Given the description of an element on the screen output the (x, y) to click on. 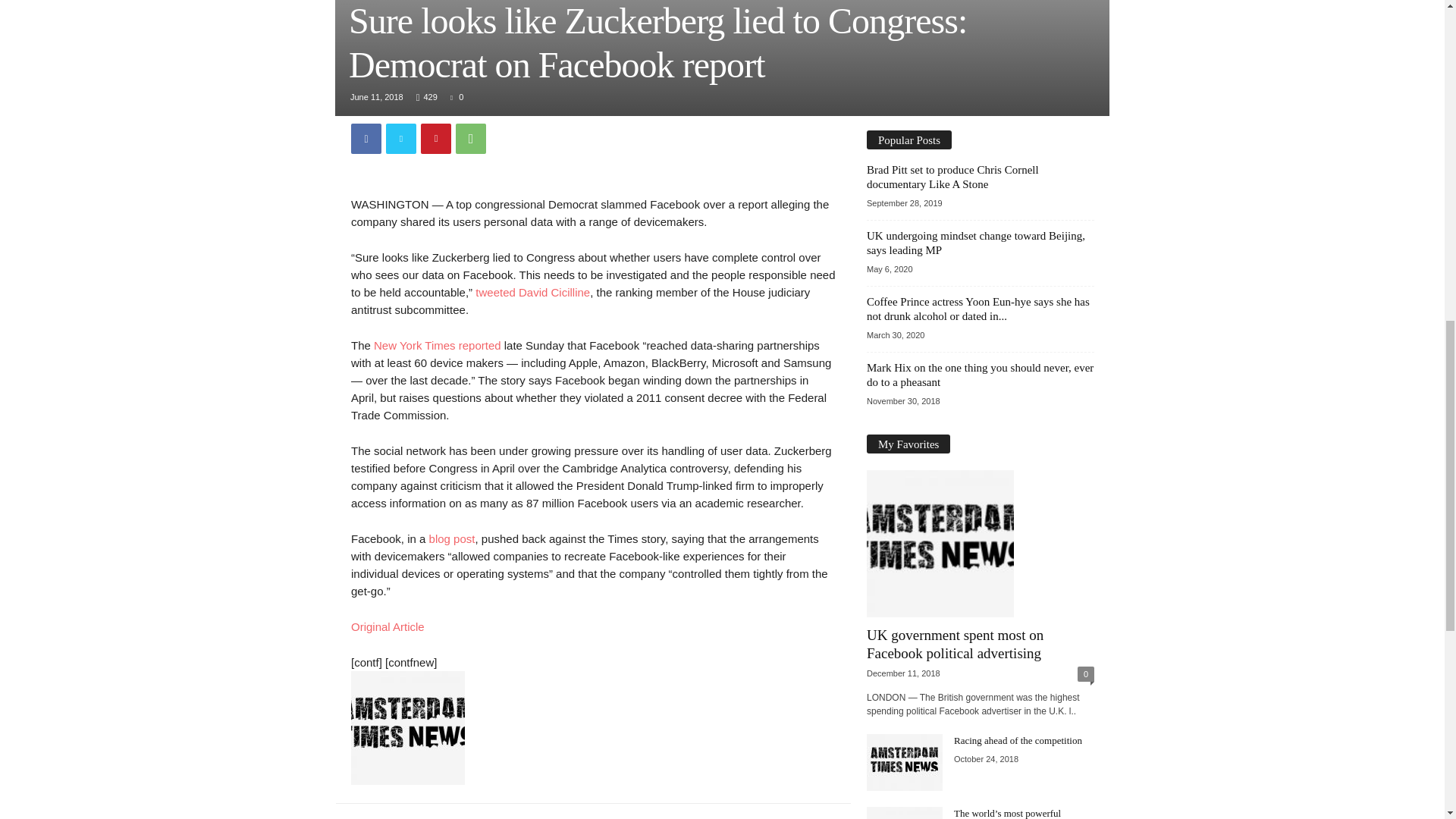
Facebook (365, 137)
Twitter (400, 137)
GettyImages-962269882 (721, 58)
Pinterest (435, 137)
WhatsApp (470, 137)
